Given the description of an element on the screen output the (x, y) to click on. 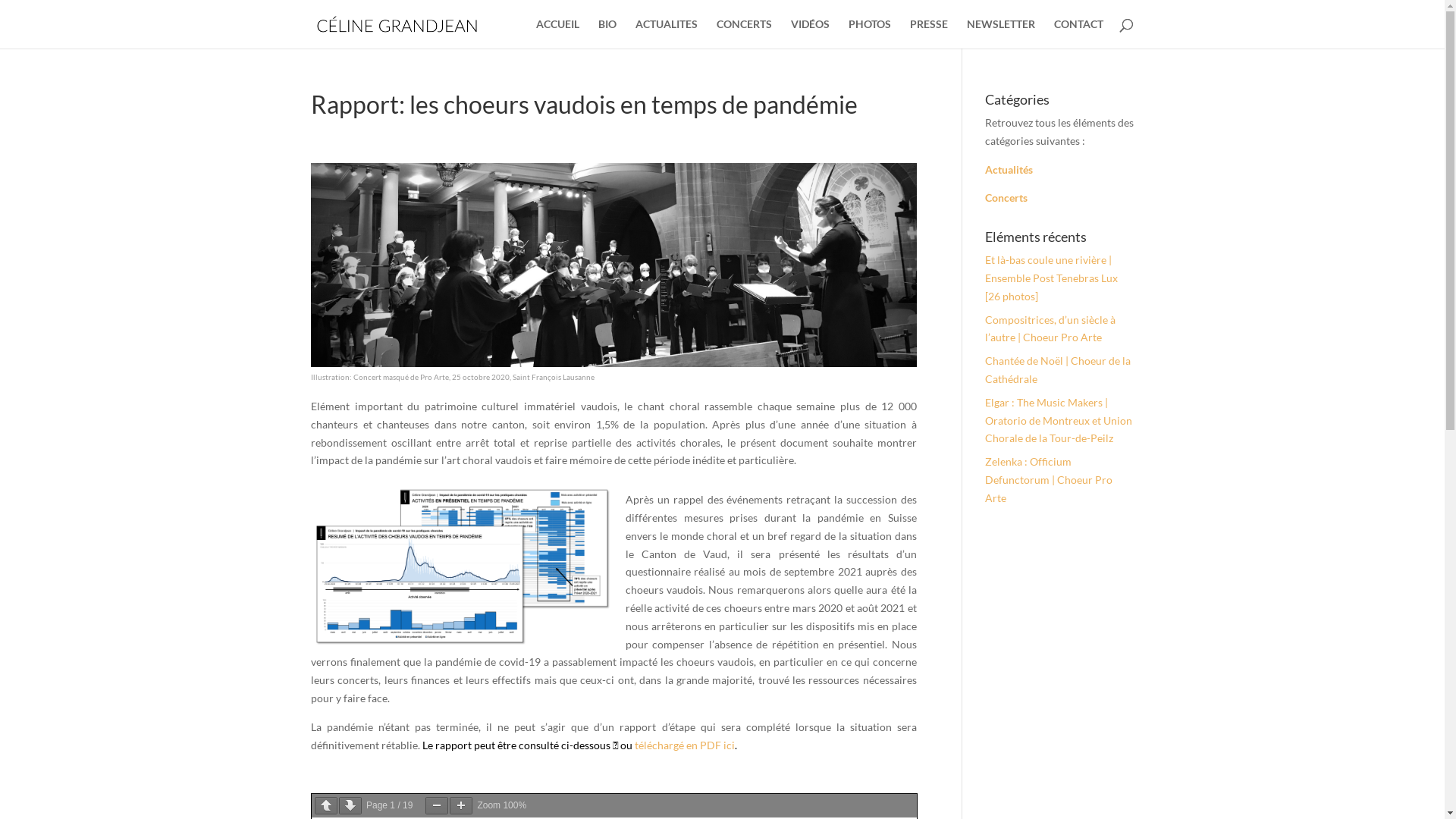
ACCUEIL Element type: text (557, 33)
NEWSLETTER Element type: text (1000, 33)
BIO Element type: text (607, 33)
Zoomer Element type: hover (460, 805)
Zelenka : Officium Defunctorum | Choeur Pro Arte Element type: text (1047, 479)
PHOTOS Element type: text (869, 33)
PRESSE Element type: text (928, 33)
ACTUALITES Element type: text (666, 33)
CONTACT Element type: text (1078, 33)
Concerts Element type: text (1005, 197)
Page suivante Element type: hover (349, 805)
CONCERTS Element type: text (743, 33)
